Given the description of an element on the screen output the (x, y) to click on. 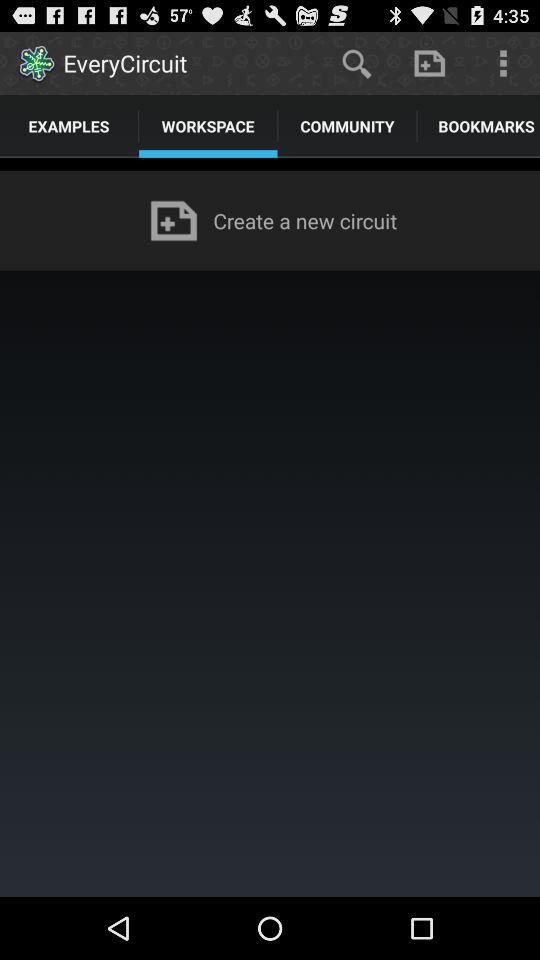
open the item below examples icon (270, 163)
